Given the description of an element on the screen output the (x, y) to click on. 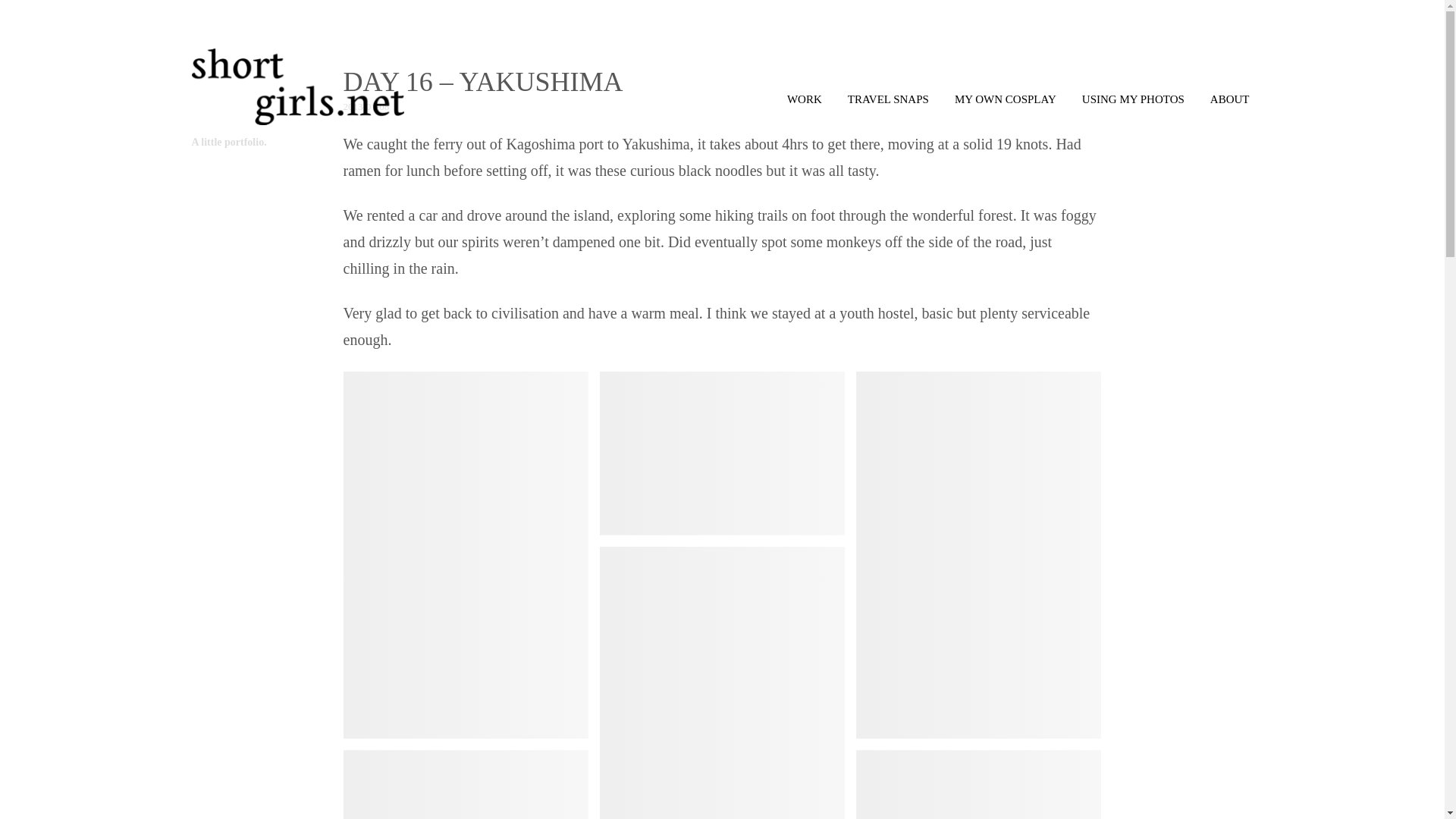
ABOUT (1230, 99)
WORK (804, 99)
MY OWN COSPLAY (1004, 99)
TRAVEL SNAPS (888, 99)
USING MY PHOTOS (1133, 99)
2013-01-08 (365, 106)
